Given the description of an element on the screen output the (x, y) to click on. 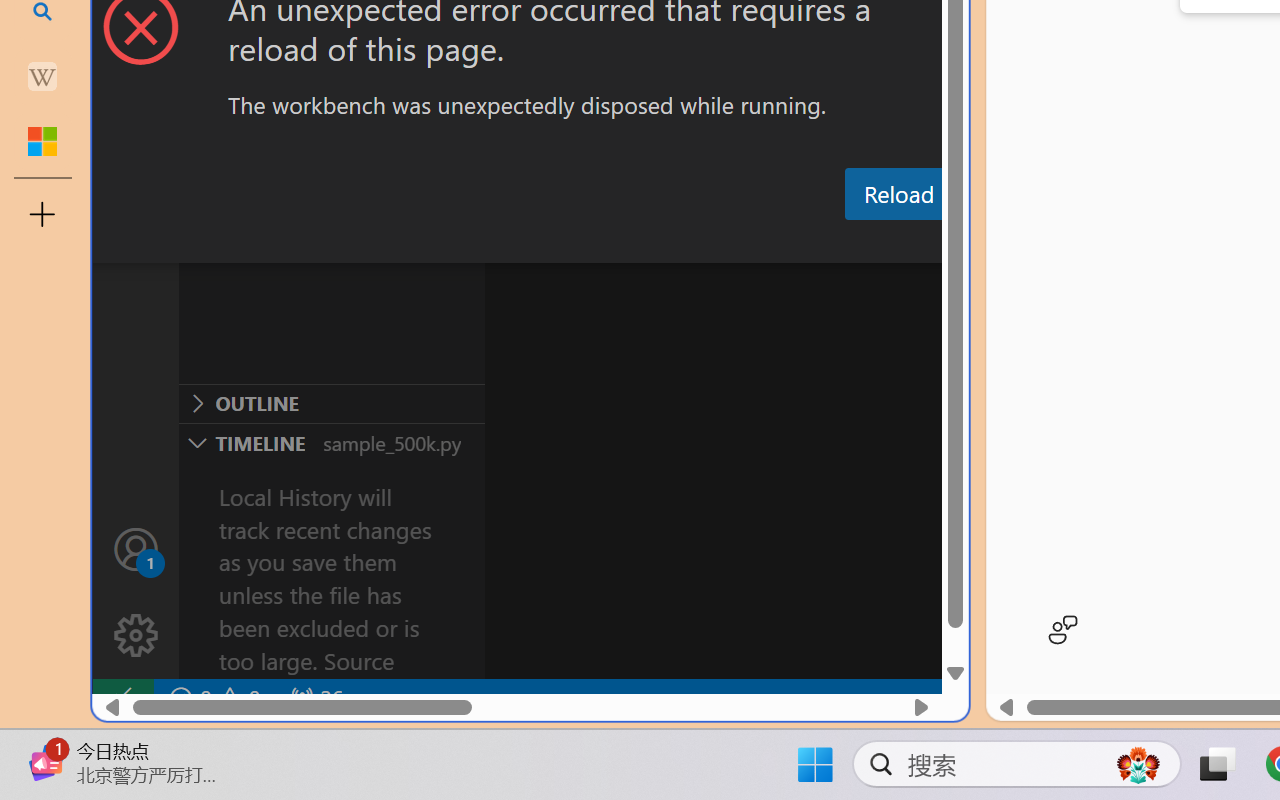
Terminal (Ctrl+`) (1021, 243)
Problems (Ctrl+Shift+M) (567, 243)
Reload (898, 193)
No Problems (212, 698)
Debug Console (Ctrl+Shift+Y) (854, 243)
remote (122, 698)
Output (Ctrl+Shift+U) (696, 243)
